Given the description of an element on the screen output the (x, y) to click on. 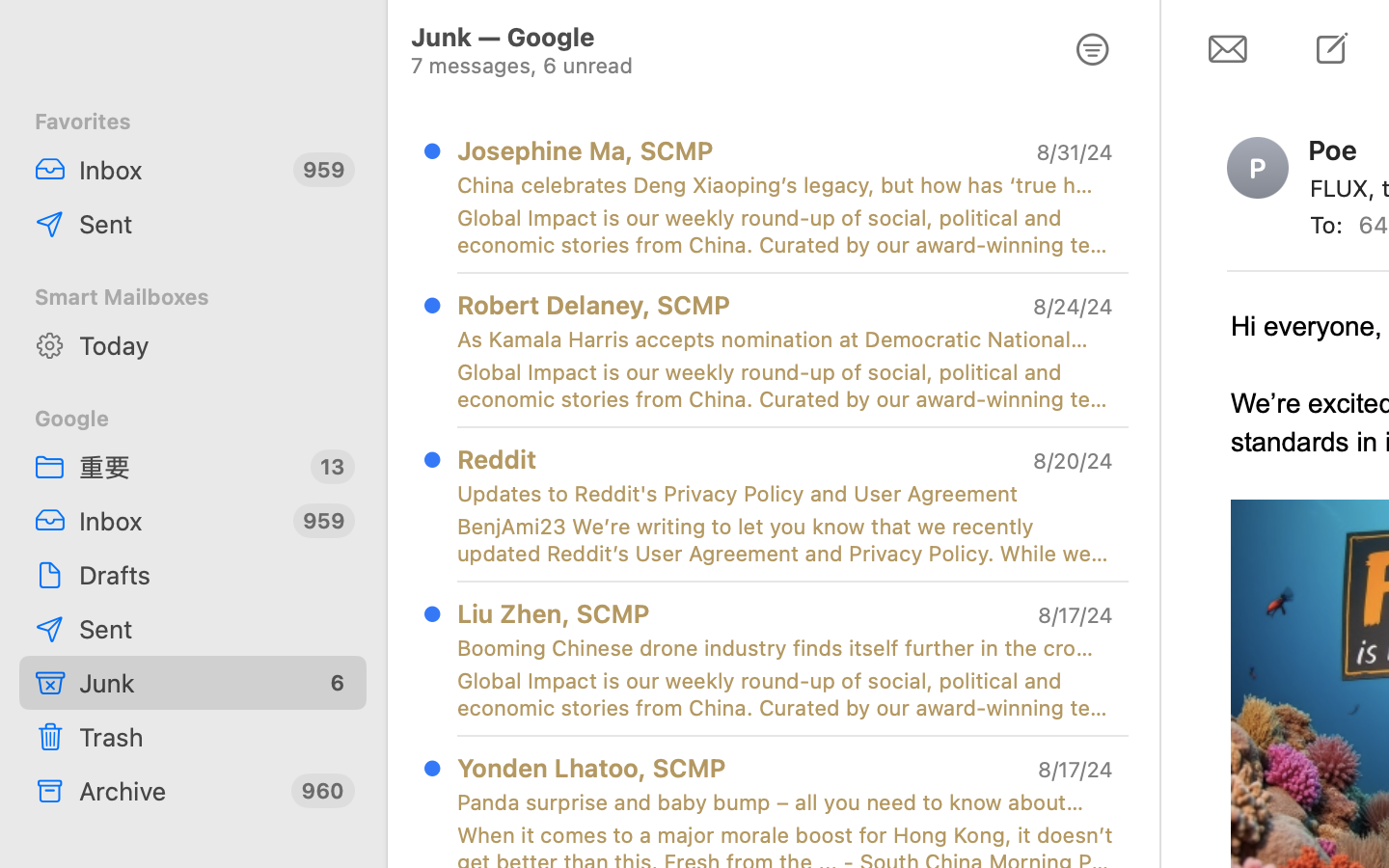
Yonden Lhatoo, SCMP Element type: AXStaticText (591, 767)
P Element type: AXStaticText (1257, 167)
8/17/24 Element type: AXStaticText (1075, 769)
Global Impact is our weekly round-up of social, political and economic stories from China. Curated by our award-winning team of ... - South China Morning Post, SCMP, Global Impact - Global Impact is our weekly round-up of social, political and economic stories from China. Curated by our award-winning team of ... This newsletter is now only available to our digital subscribers. Subscribe to a 1-year plan with a 25% discount for the first year to continue to receive this newsletter along with unlimited access to SCMP.com. Was this newsletter forwarded to you? Sign up here China politics & diplomacy China marks 120th anniversary of Deng Xiaoping, the man who changed China Andrew Mullen Deputy Editor, Political Economy 31 August 2024 Global Impact is our weekly round-up of social, political and economic stories from China. Curated by our award-winning team of journalists, this must-read newsletter explores the impact and significance of those stories around the globe. Since July 2023, Glob Element type: AXStaticText (784, 231)
Junk Element type: AXStaticText (191, 682)
